Given the description of an element on the screen output the (x, y) to click on. 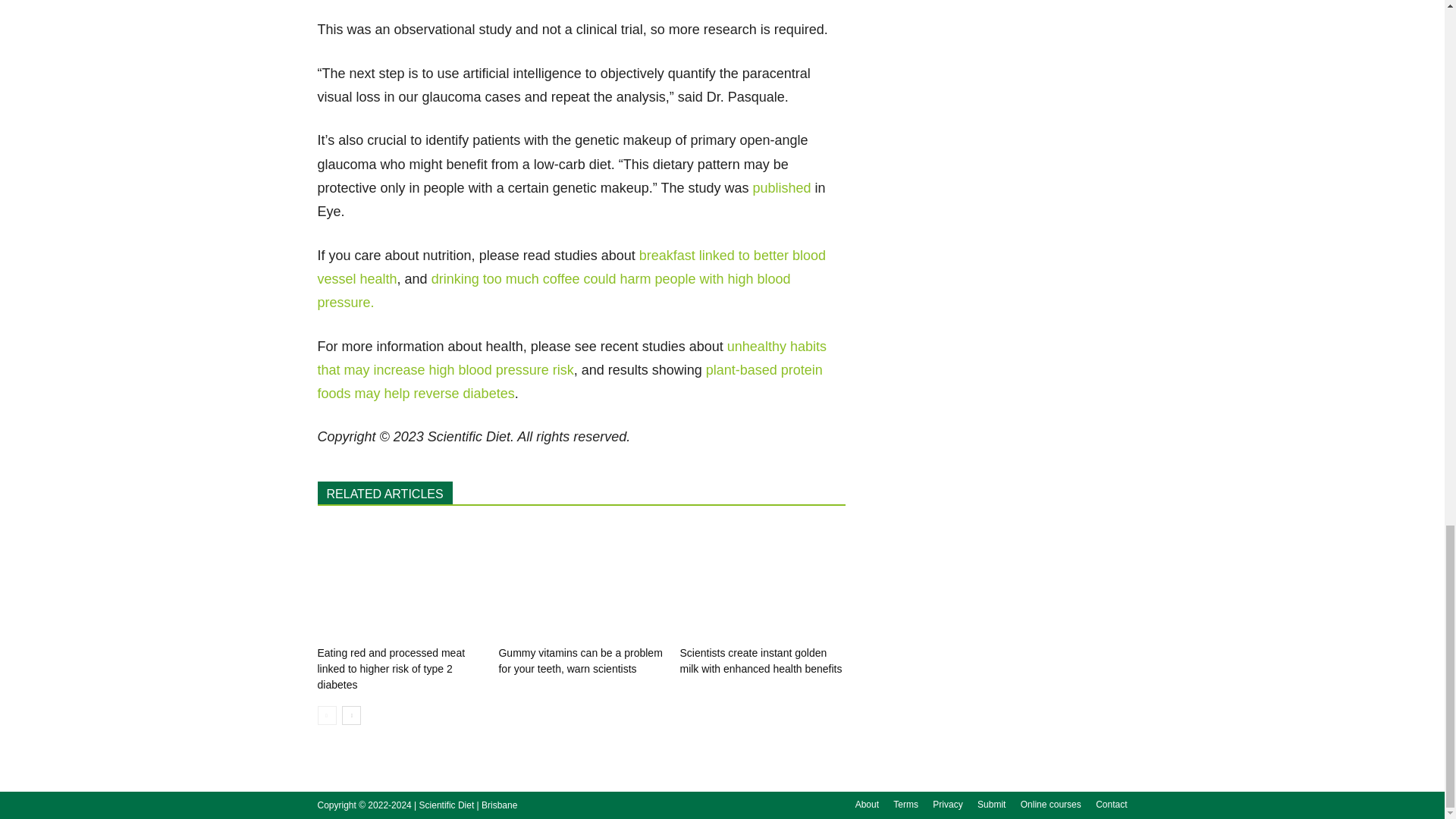
plant-based protein foods may help reverse diabetes (569, 381)
breakfast linked to better blood vessel health (571, 267)
unhealthy habits that may increase high blood pressure risk (571, 357)
published (781, 187)
